Given the description of an element on the screen output the (x, y) to click on. 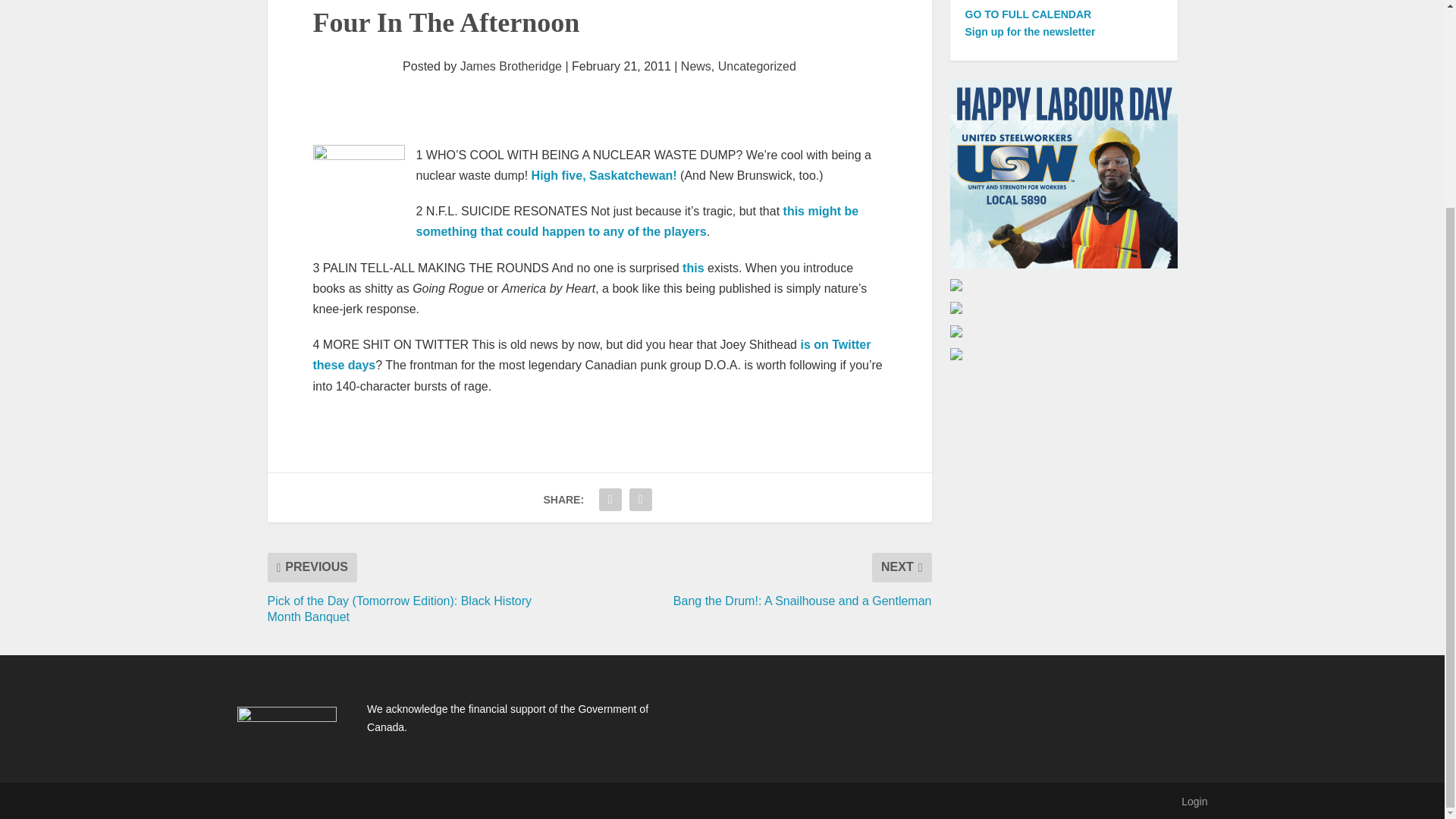
Posts by James Brotheridge (511, 65)
this (692, 267)
News (696, 65)
Login (1193, 801)
Premium WordPress Themes (336, 800)
Elegant Themes (336, 800)
Uncategorized (756, 65)
James Brotheridge (511, 65)
High five, Saskatchewan! (604, 174)
GO TO FULL CALENDAR (1026, 14)
